Given the description of an element on the screen output the (x, y) to click on. 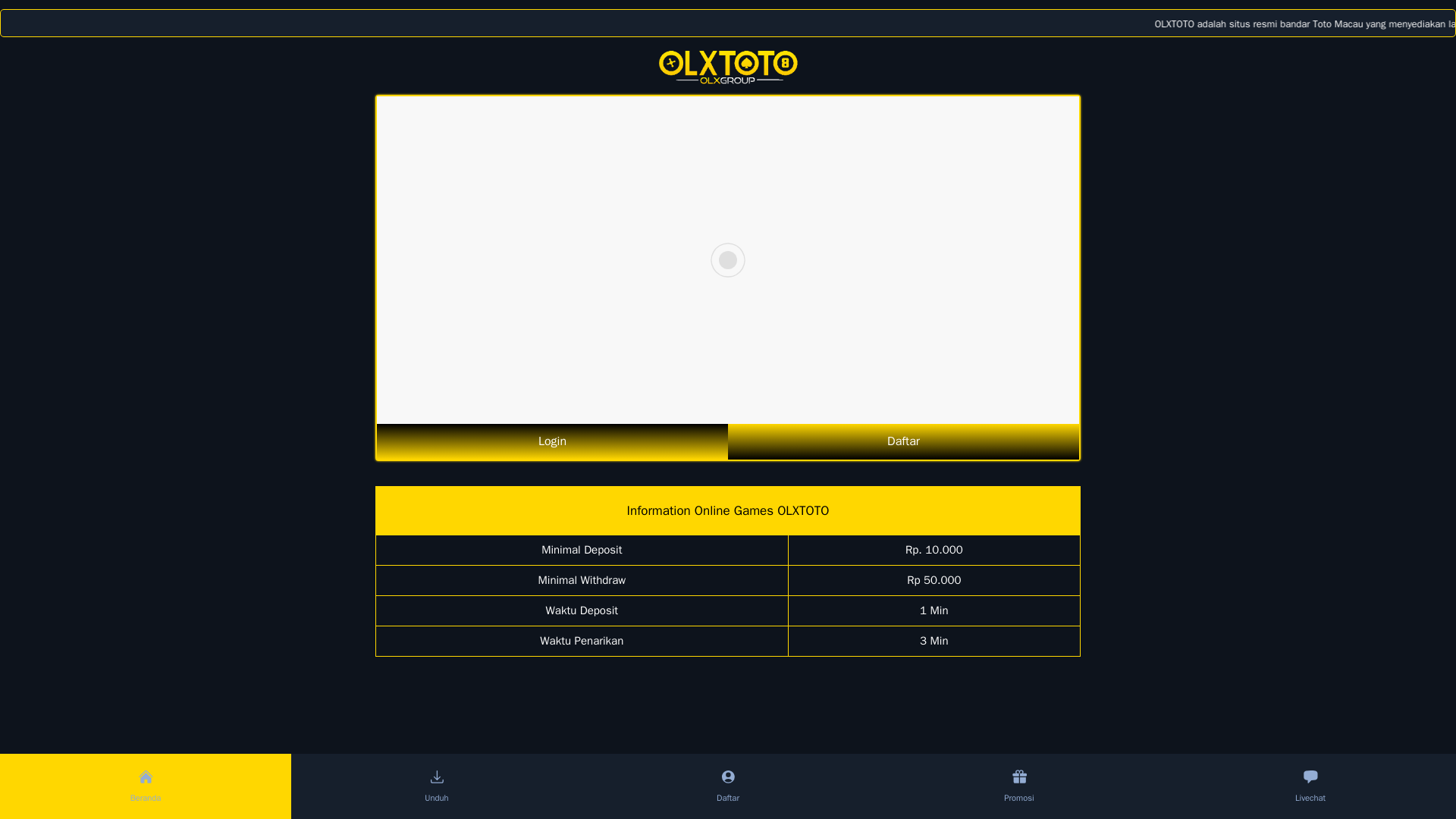
Login (552, 441)
LOGO-OLXTOTO (727, 65)
Daftar (903, 441)
